Given the description of an element on the screen output the (x, y) to click on. 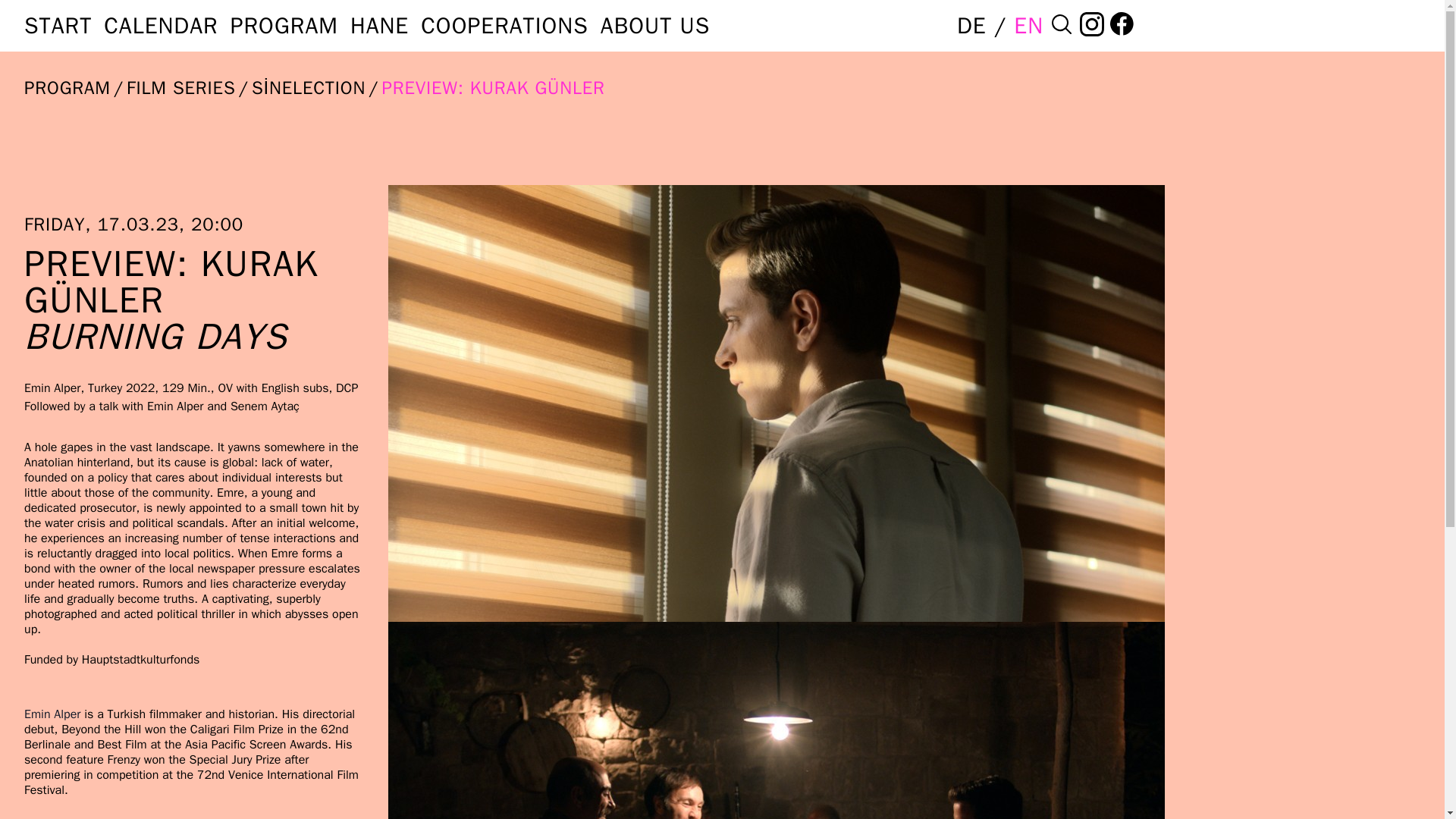
DE (975, 25)
FILM SERIES (180, 87)
PROGRAM (283, 25)
COOPERATIONS (504, 25)
Search (1061, 25)
ABOUT US (654, 25)
HANE (379, 25)
PROGRAM (67, 87)
CALENDAR (159, 25)
START (57, 25)
facebook (1121, 25)
EN (1028, 25)
